Given the description of an element on the screen output the (x, y) to click on. 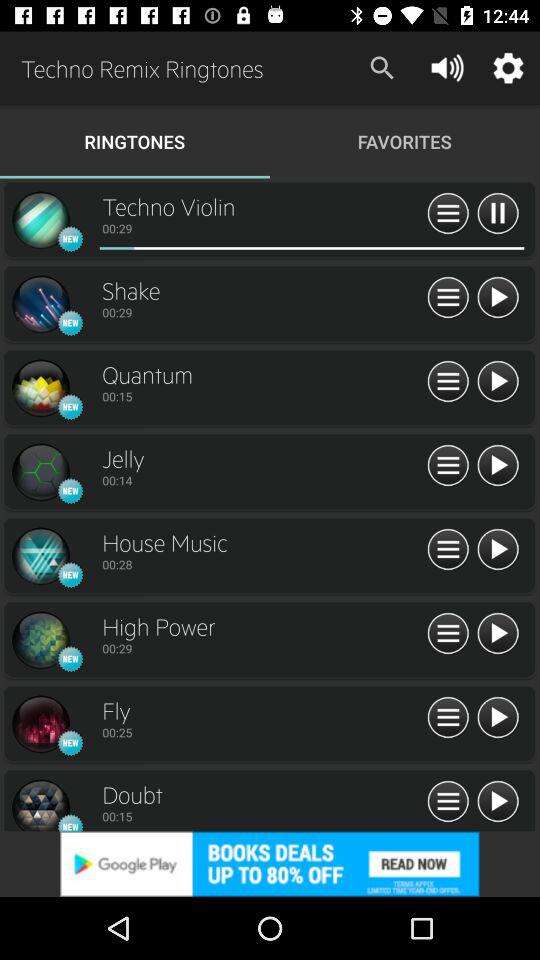
go to techno violin (497, 801)
